Given the description of an element on the screen output the (x, y) to click on. 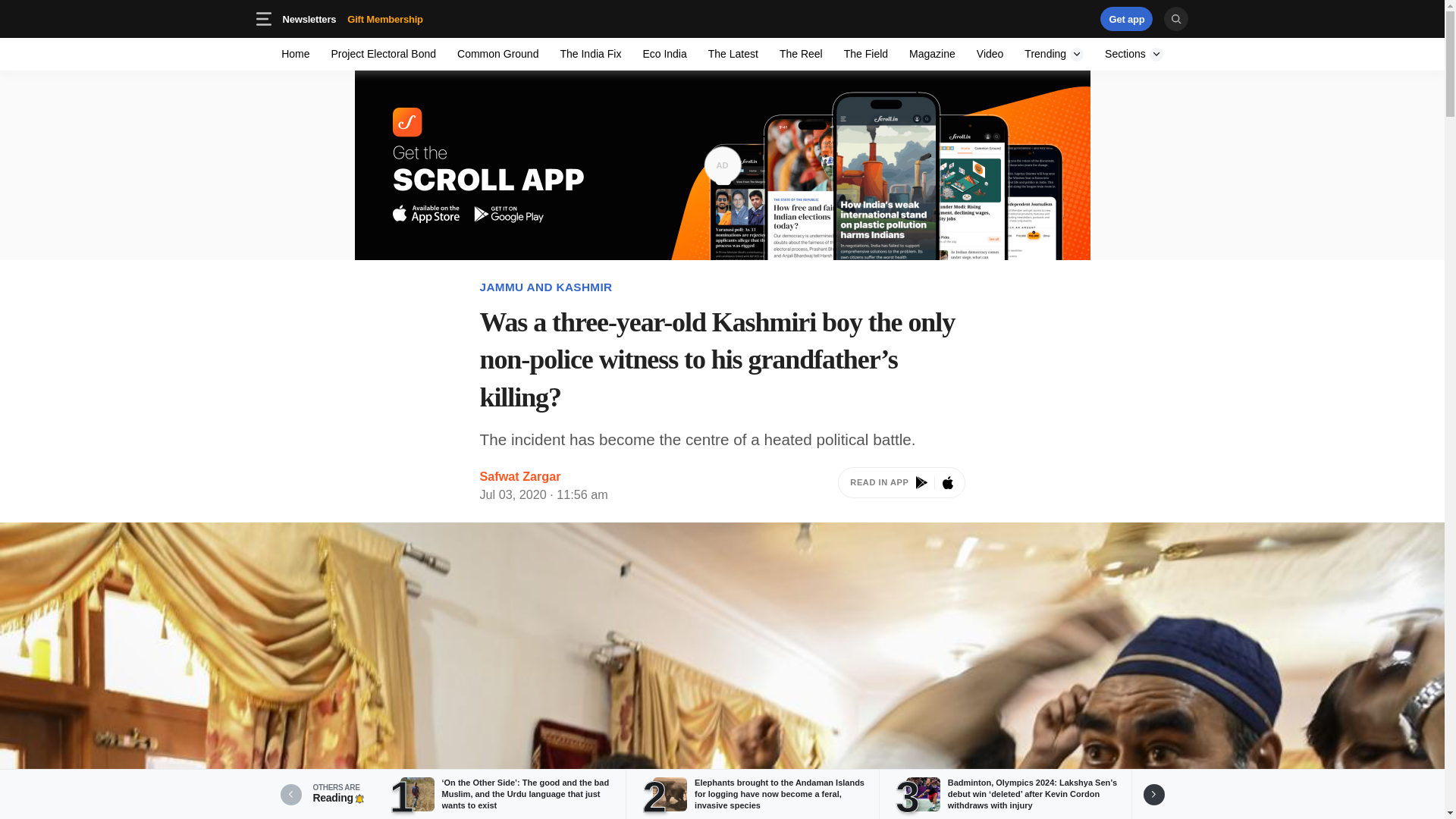
Sections (1134, 53)
Home (295, 53)
READ IN APP (352, 18)
Magazine (900, 485)
The India Fix (931, 53)
3rd party ad content (590, 53)
Get app (664, 53)
Get app (409, 18)
Trending (1126, 18)
Trending (1035, 18)
Gift Membership (1053, 53)
